Given the description of an element on the screen output the (x, y) to click on. 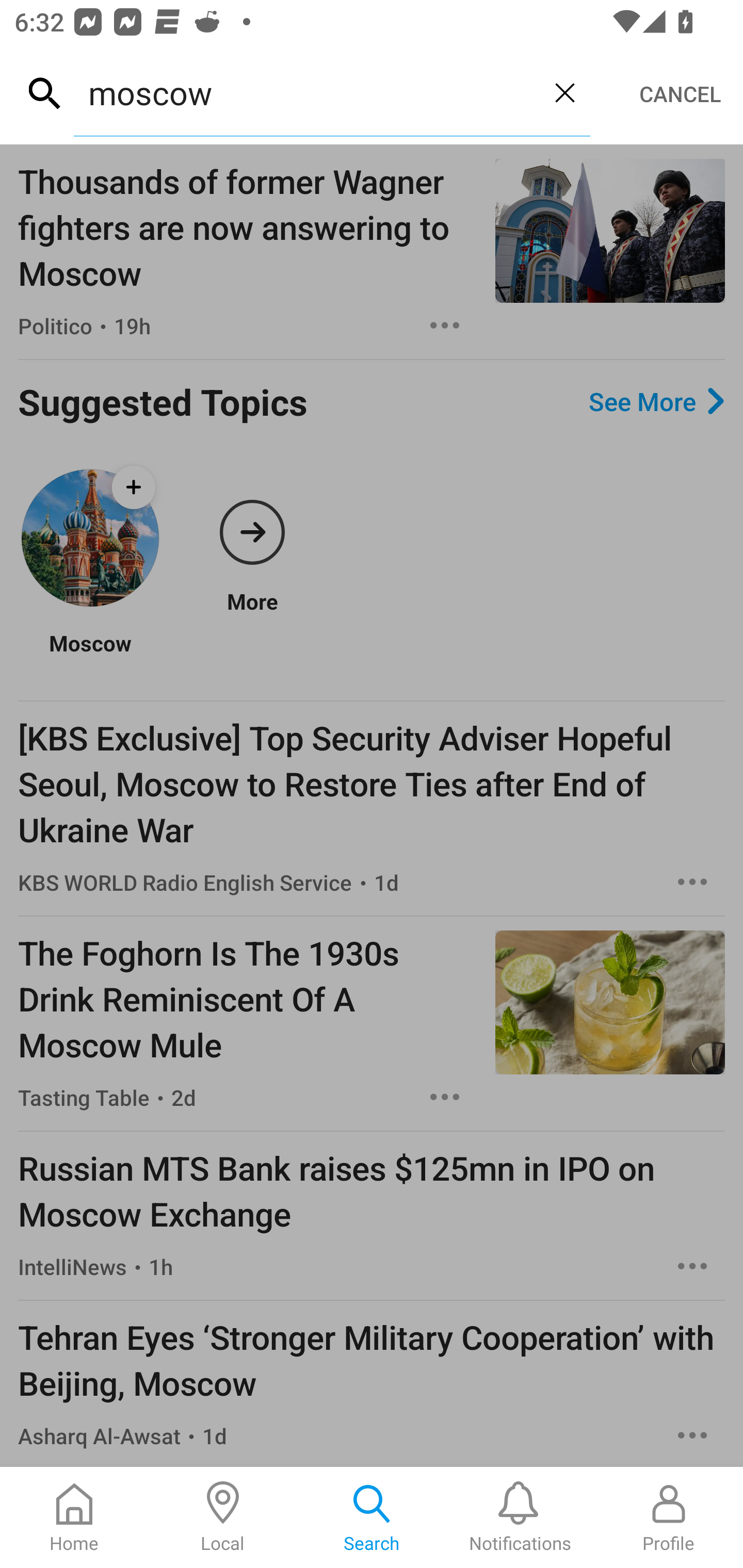
Clear query (564, 92)
CANCEL (680, 93)
moscow (306, 92)
Options (444, 325)
See More (656, 401)
More (251, 537)
Moscow (89, 655)
Options (692, 881)
Options (444, 1096)
Options (692, 1265)
Options (692, 1435)
Home (74, 1517)
Local (222, 1517)
Notifications (519, 1517)
Profile (668, 1517)
